Given the description of an element on the screen output the (x, y) to click on. 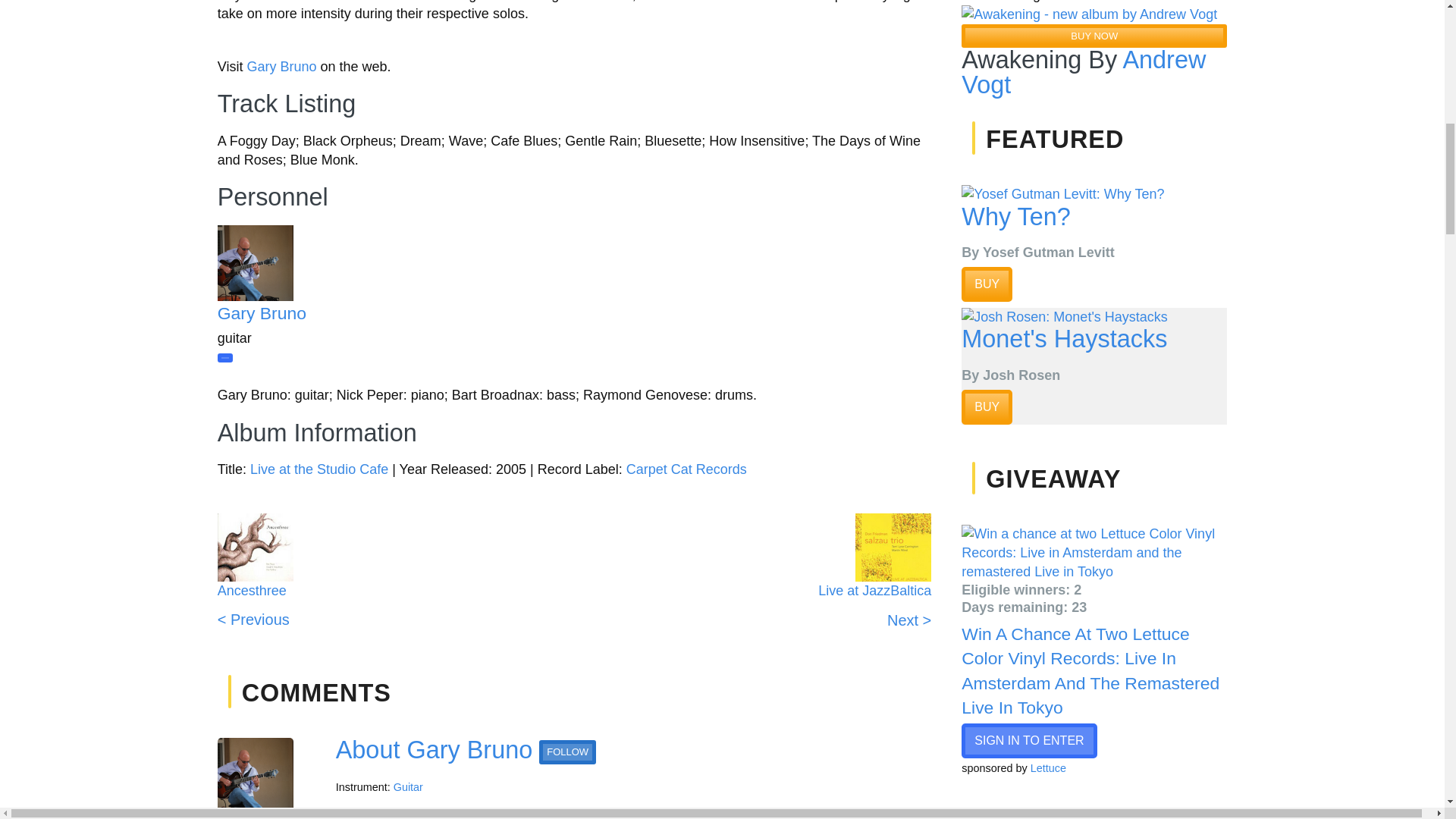
Visit Gary Bruno at All About Jazz (304, 263)
Forward to next article (874, 609)
Visit Gary Bruno at All About Jazz (260, 312)
Gary Bruno (280, 66)
Live at the Studio Cafe (319, 468)
View Live at the Studio Cafe at All About Jazz (319, 468)
Return to previous article (252, 609)
About Gary Bruno (434, 749)
Gary Bruno (260, 312)
Carpet Cat Records (686, 468)
